Given the description of an element on the screen output the (x, y) to click on. 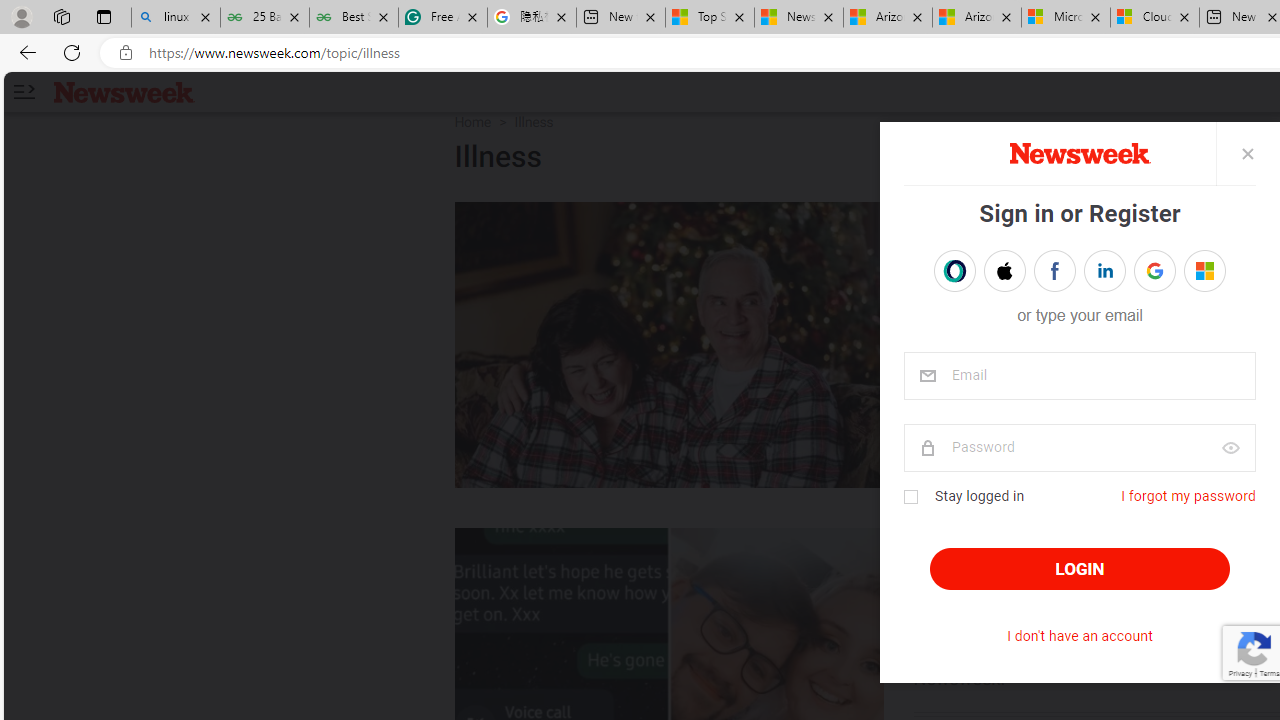
25 Basic Linux Commands For Beginners - GeeksforGeeks (264, 17)
linux basic - Search (175, 17)
ON THE INTERNET (1014, 548)
Top Stories - MSN (709, 17)
LOGIN (1079, 569)
Back (24, 52)
Sign in as Eugene EugeneLedger601@outlook.com (1204, 270)
Newsweek logo (123, 91)
Microsoft Services Agreement (1065, 17)
Personal Profile (21, 16)
Cloud Computing Services | Microsoft Azure (1155, 17)
Eugene (1191, 271)
Close tab (1184, 16)
